Given the description of an element on the screen output the (x, y) to click on. 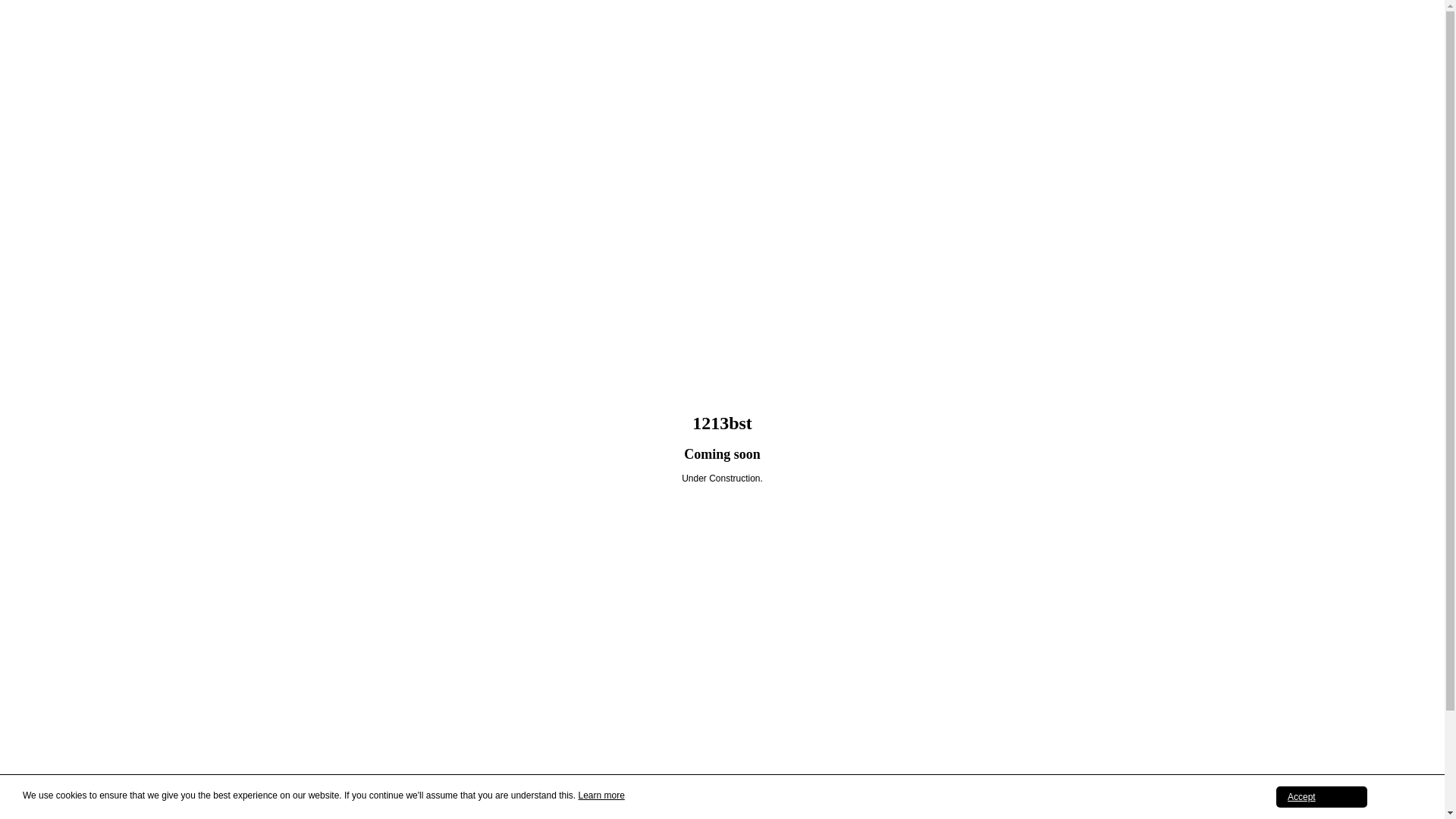
Accept Element type: text (1321, 796)
Learn more Element type: text (600, 795)
